Given the description of an element on the screen output the (x, y) to click on. 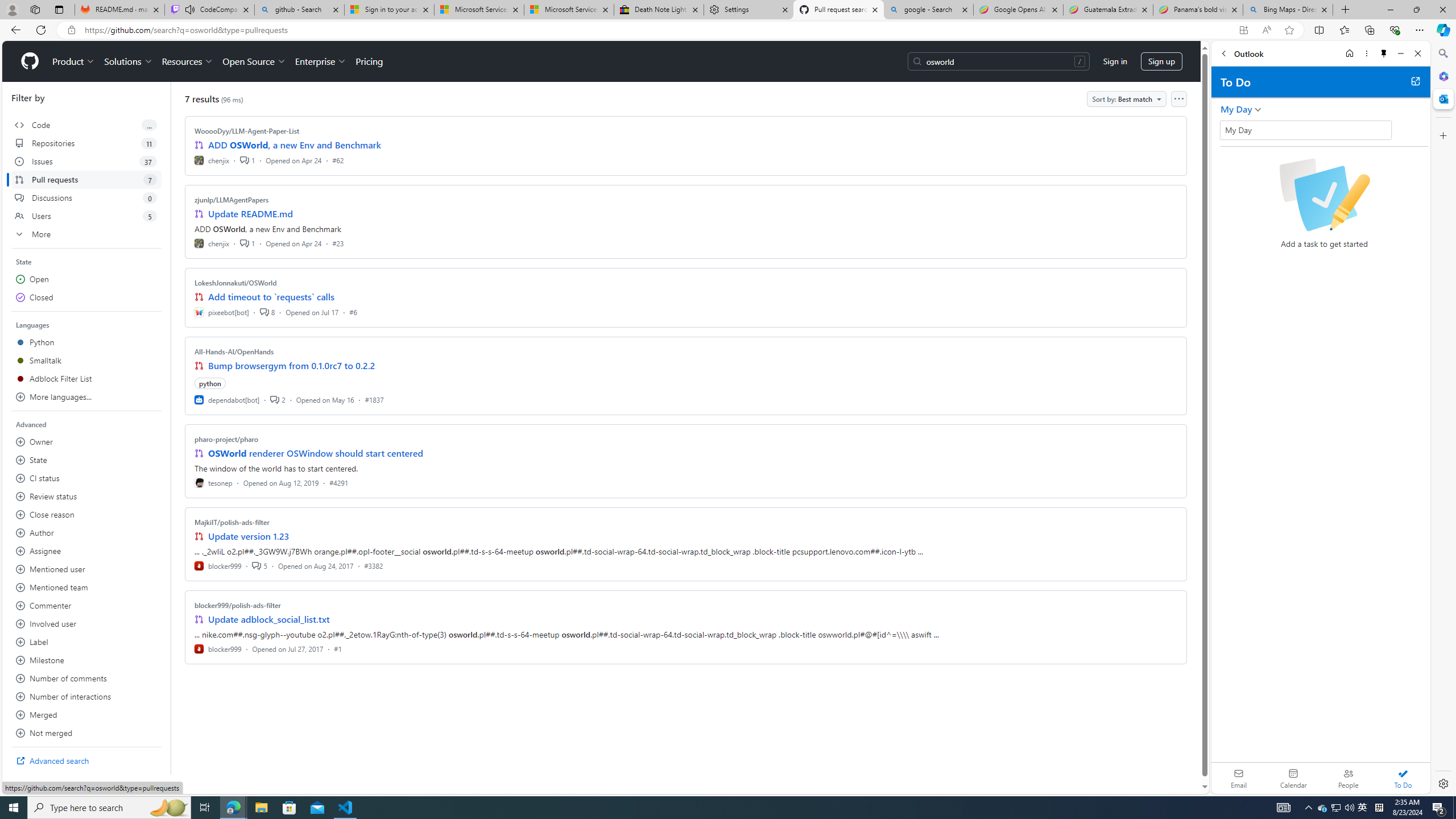
chenjix (211, 242)
Solutions (128, 60)
Unpin side pane (1383, 53)
ADD OSWorld, a new Env and Benchmark (294, 144)
#1837 (374, 398)
pixeebot[bot] (221, 311)
Checkbox with a pencil (1324, 194)
Update version 1.23 (248, 535)
OSWorld renderer OSWindow should start centered (315, 453)
My Day (1305, 130)
To Do (1402, 777)
